Given the description of an element on the screen output the (x, y) to click on. 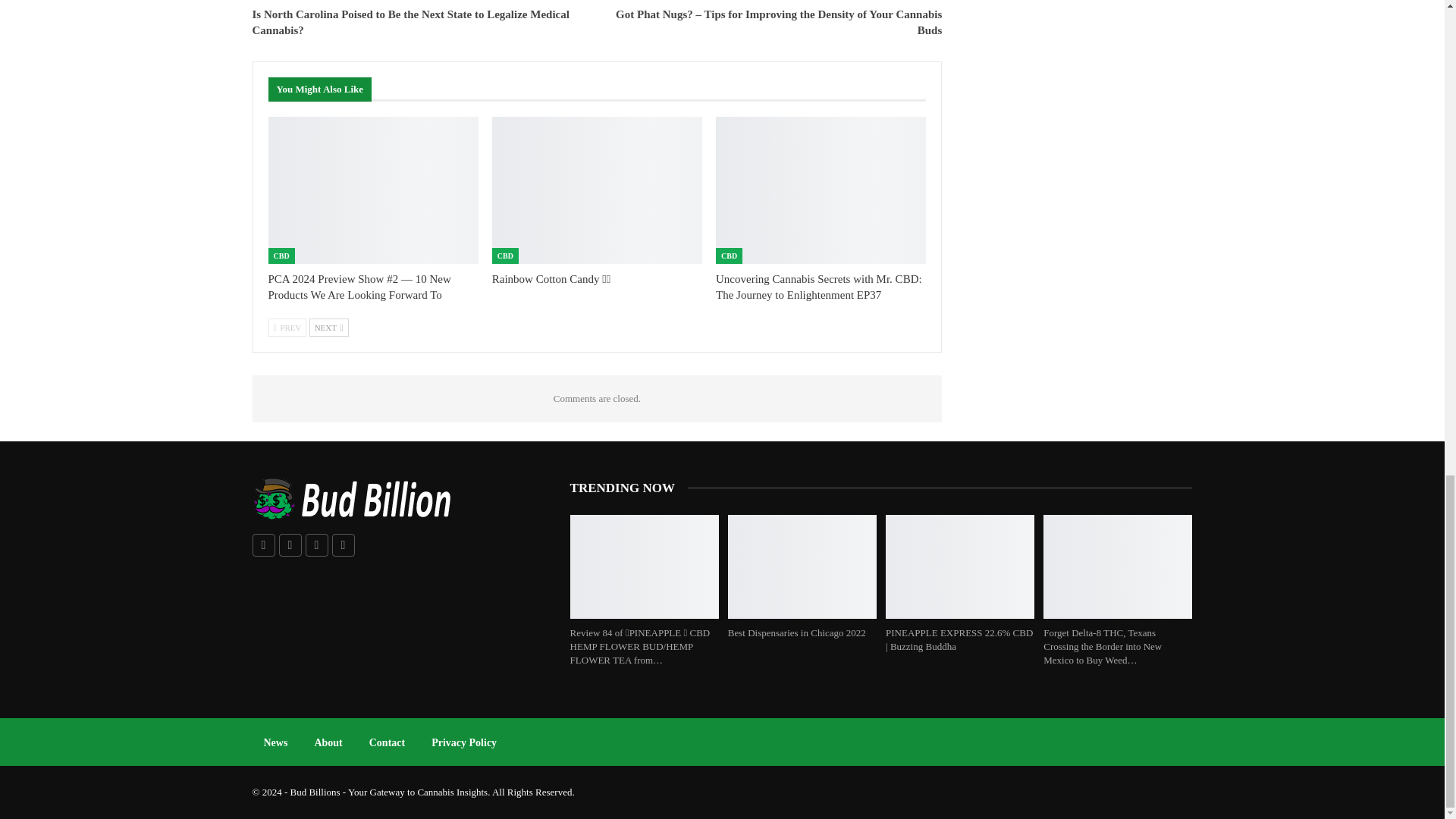
Previous (287, 327)
Next (328, 327)
